Given the description of an element on the screen output the (x, y) to click on. 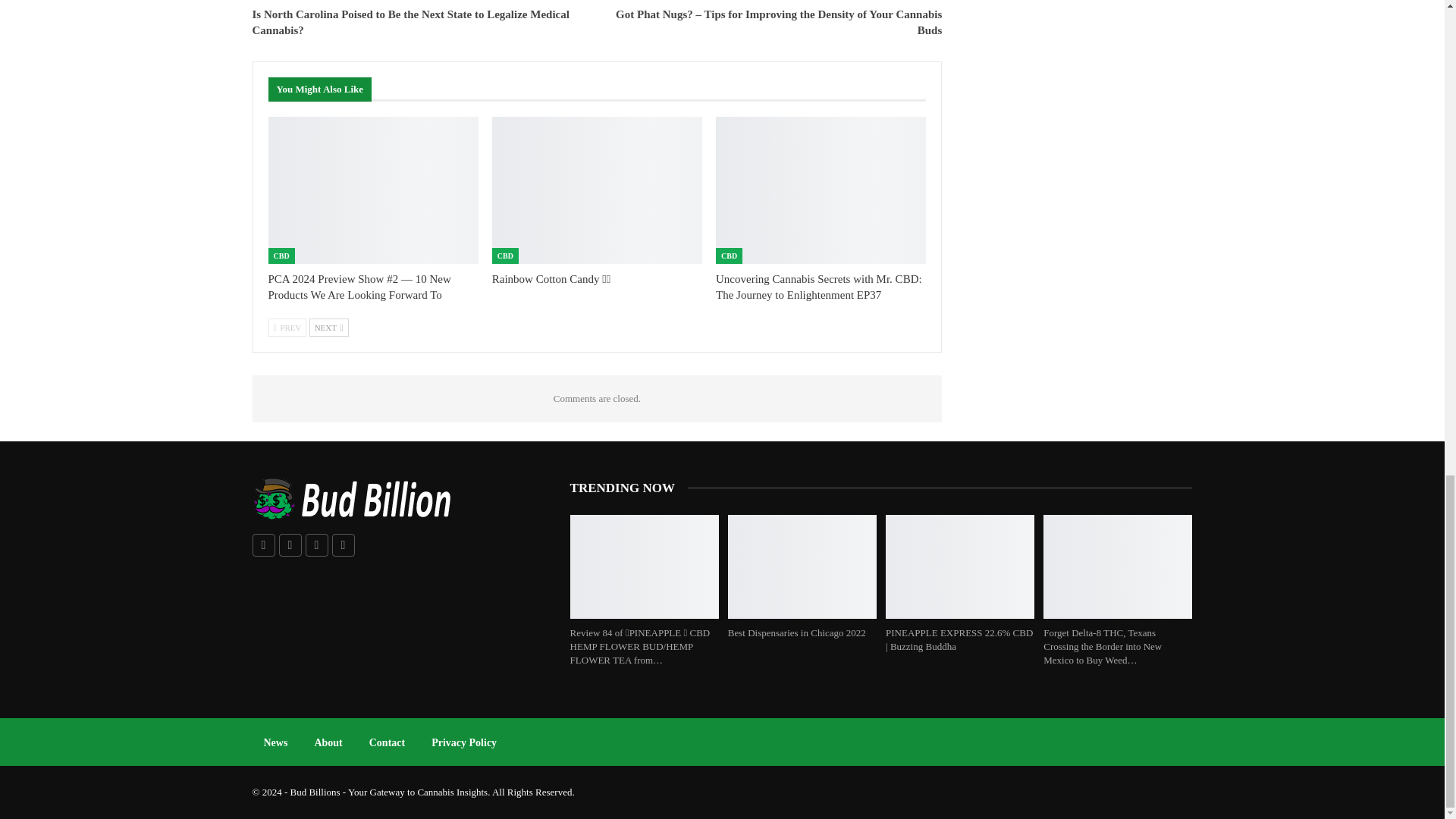
Previous (287, 327)
Next (328, 327)
